Given the description of an element on the screen output the (x, y) to click on. 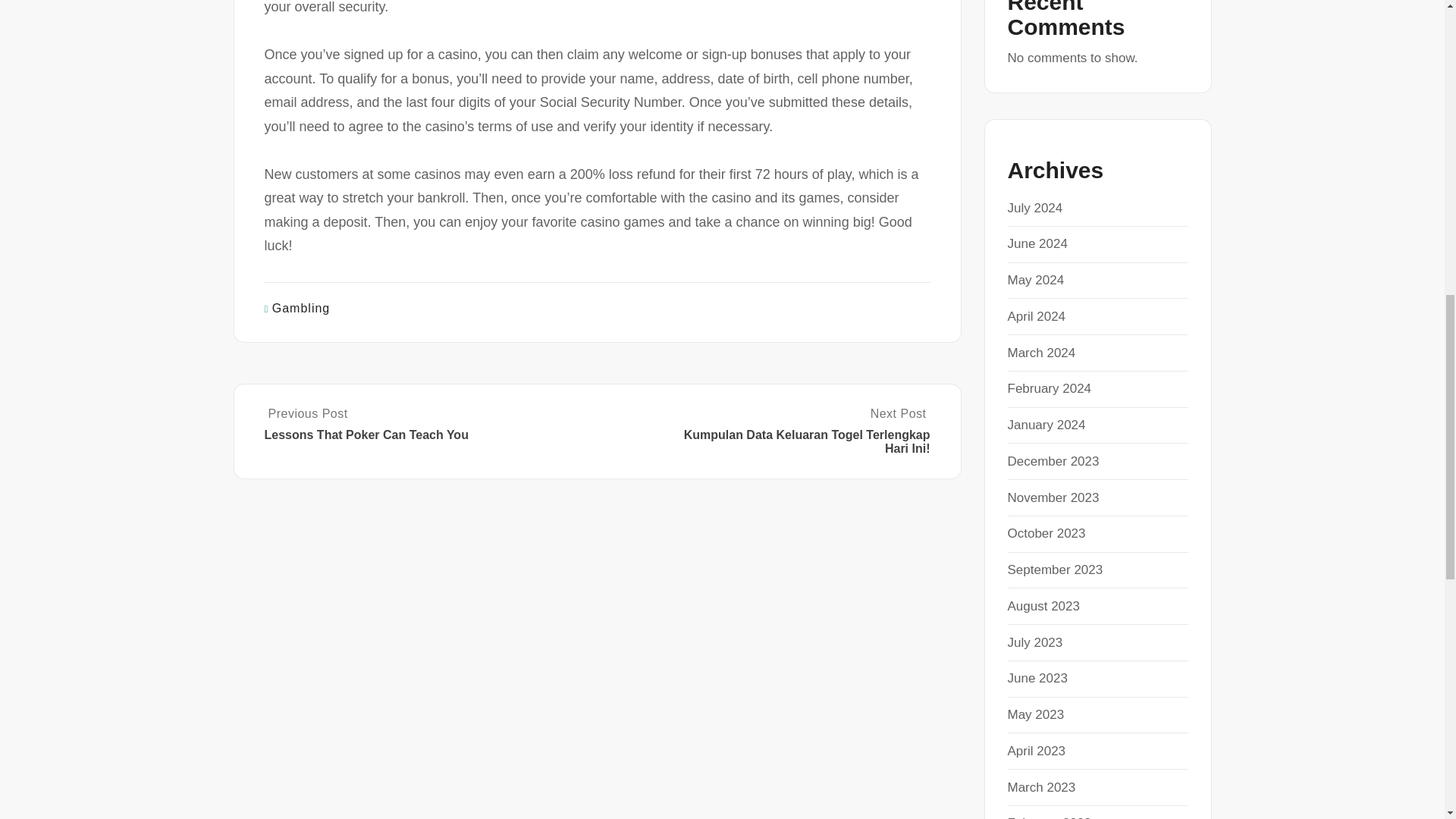
August 2023 (1042, 605)
January 2024 (1045, 424)
February 2023 (1048, 817)
July 2024 (1034, 207)
October 2023 (1045, 533)
June 2024 (1037, 243)
December 2023 (1053, 461)
May 2023 (1035, 714)
September 2023 (1054, 569)
November 2023 (1053, 497)
July 2023 (1034, 642)
April 2024 (1036, 316)
March 2023 (1041, 787)
